Given the description of an element on the screen output the (x, y) to click on. 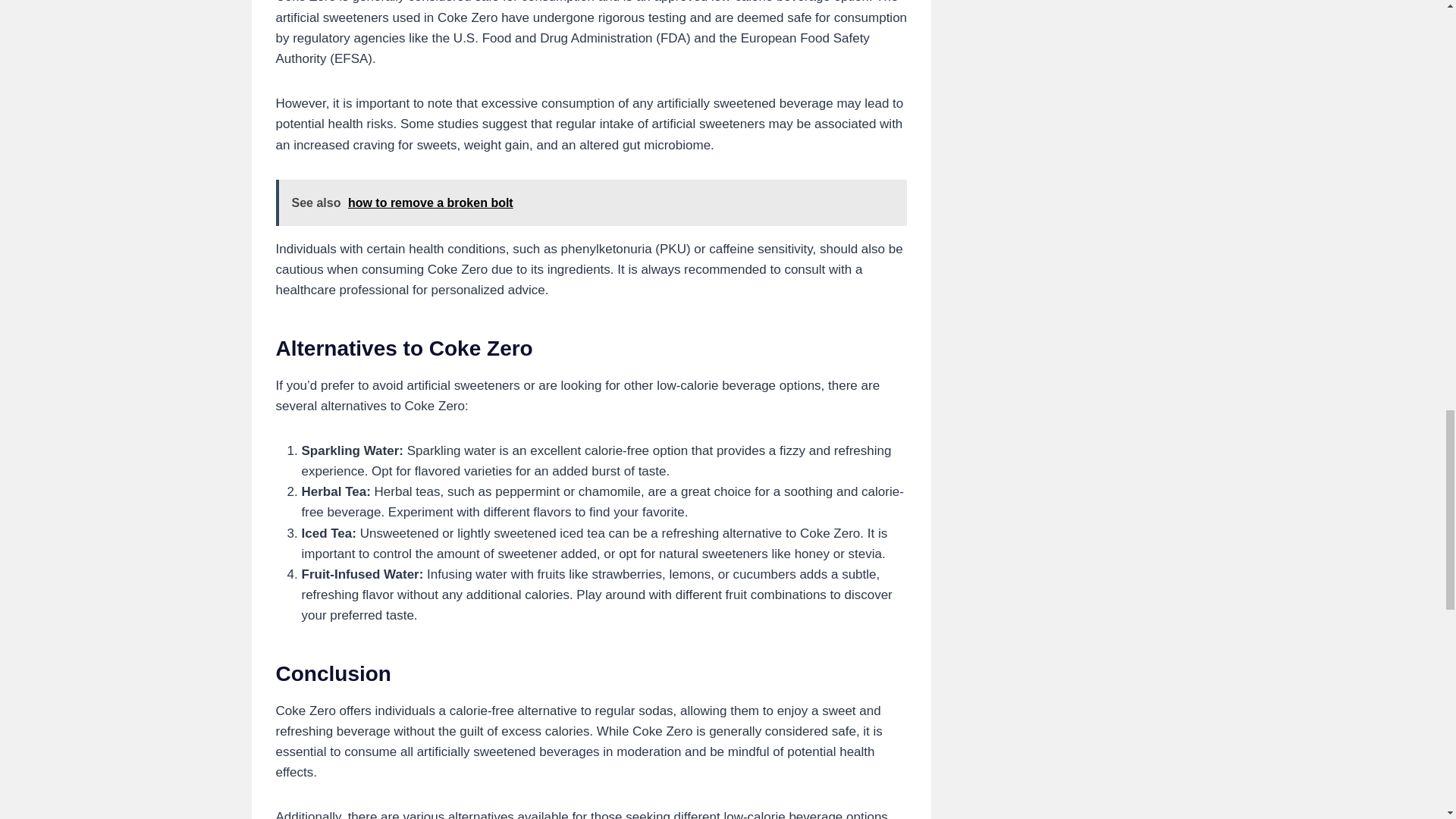
See also  how to remove a broken bolt (591, 202)
